Given the description of an element on the screen output the (x, y) to click on. 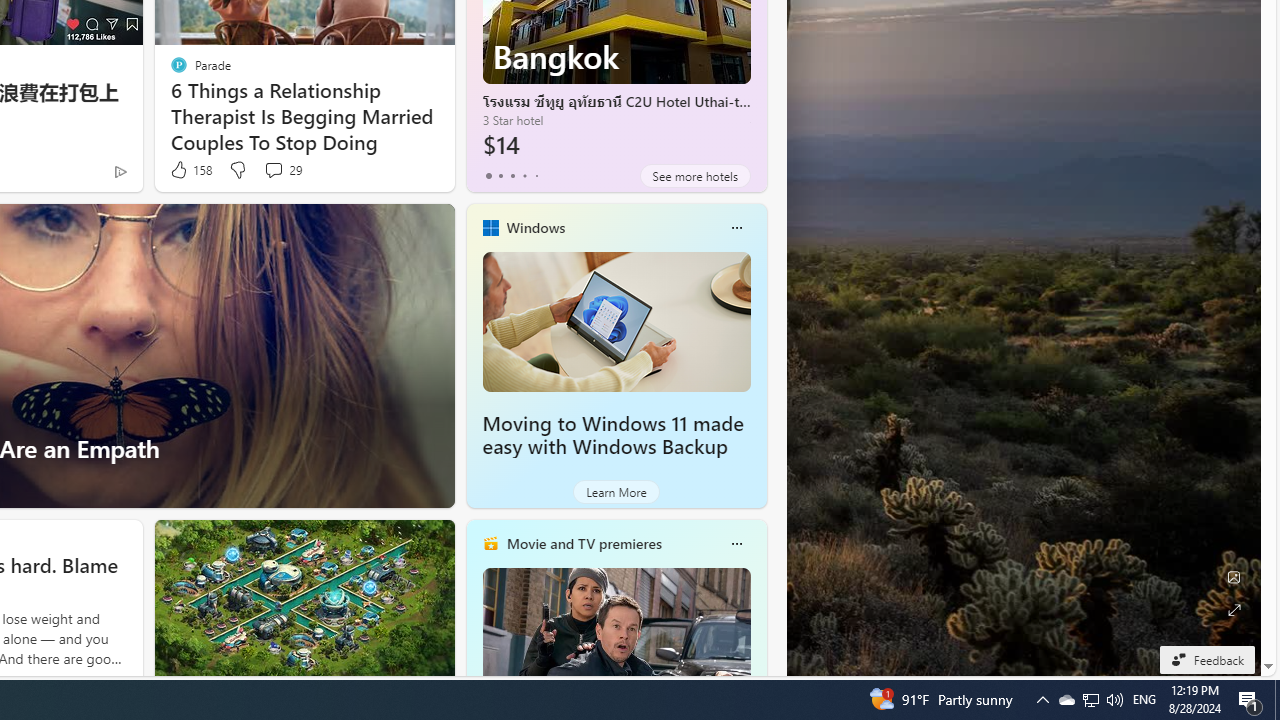
Windows (535, 227)
See more hotels (694, 175)
158 Like (190, 170)
tab-2 (511, 175)
Edit Background (1233, 577)
tab-0 (488, 175)
tab-3 (524, 175)
